Given the description of an element on the screen output the (x, y) to click on. 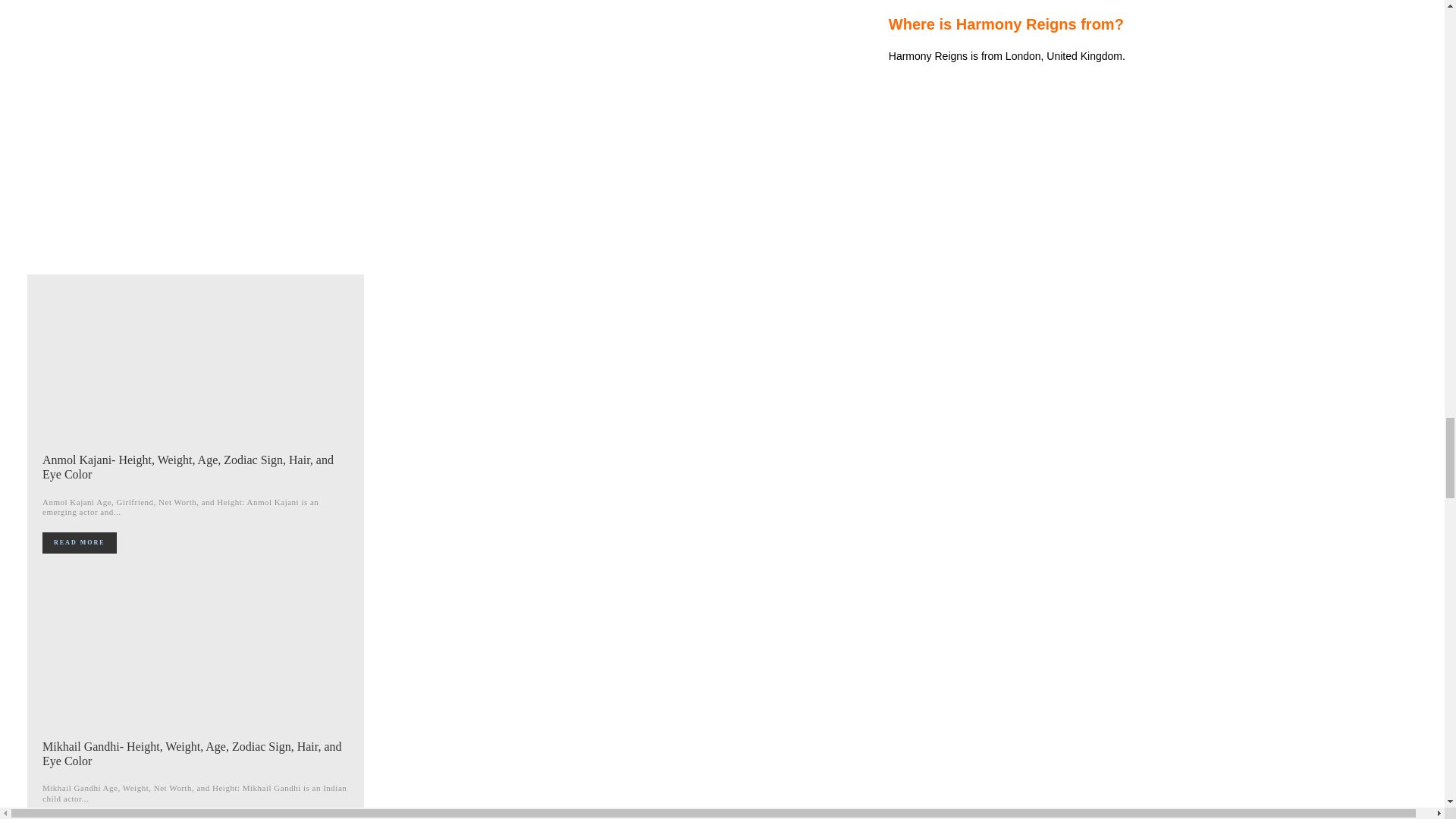
Read more (79, 542)
